Given the description of an element on the screen output the (x, y) to click on. 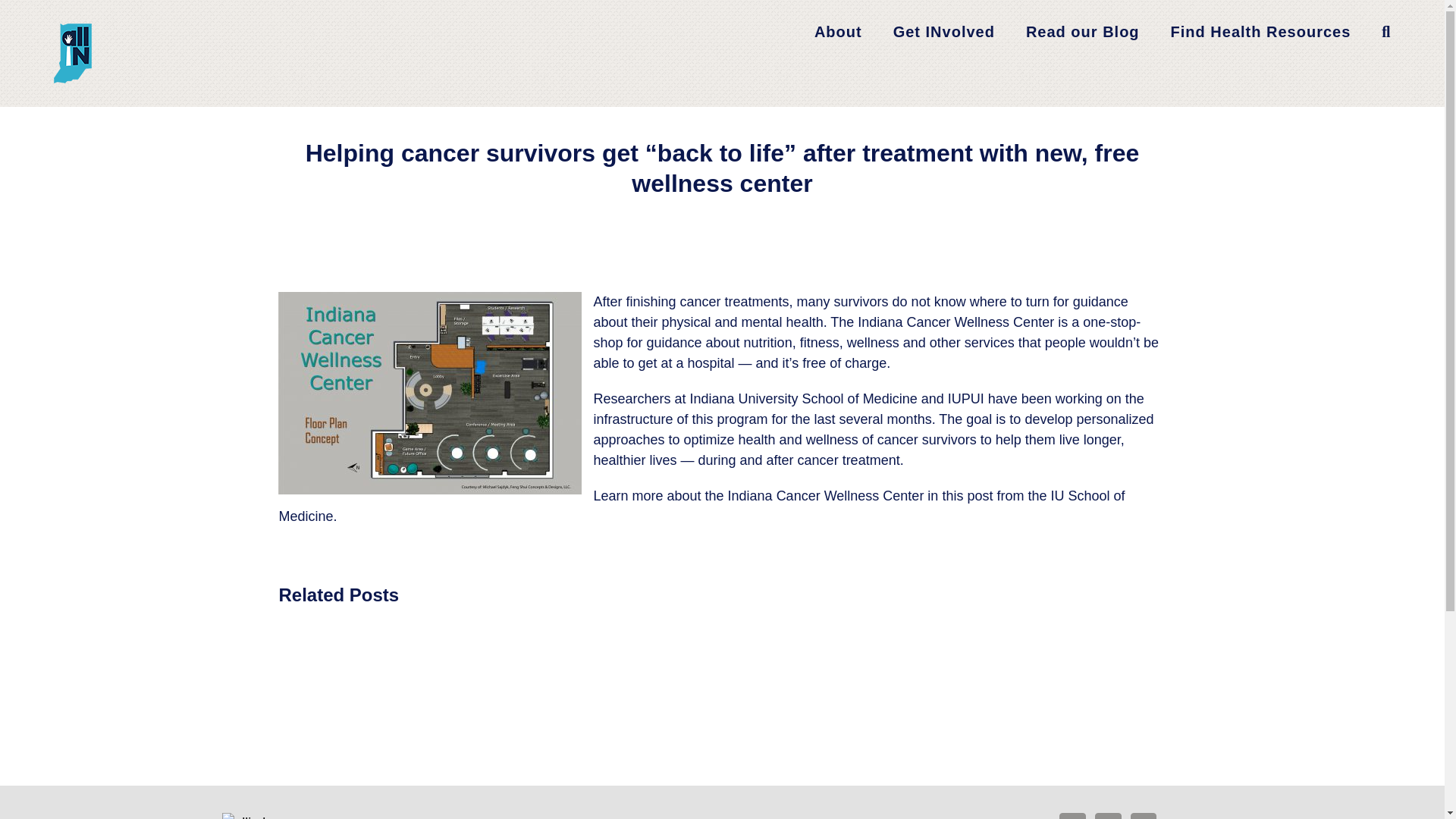
Find Health Resources (1260, 31)
Instagram (1144, 816)
Facebook (1072, 816)
Twitter (1107, 816)
Read our Blog (1083, 31)
Get INvolved (943, 31)
